Given the description of an element on the screen output the (x, y) to click on. 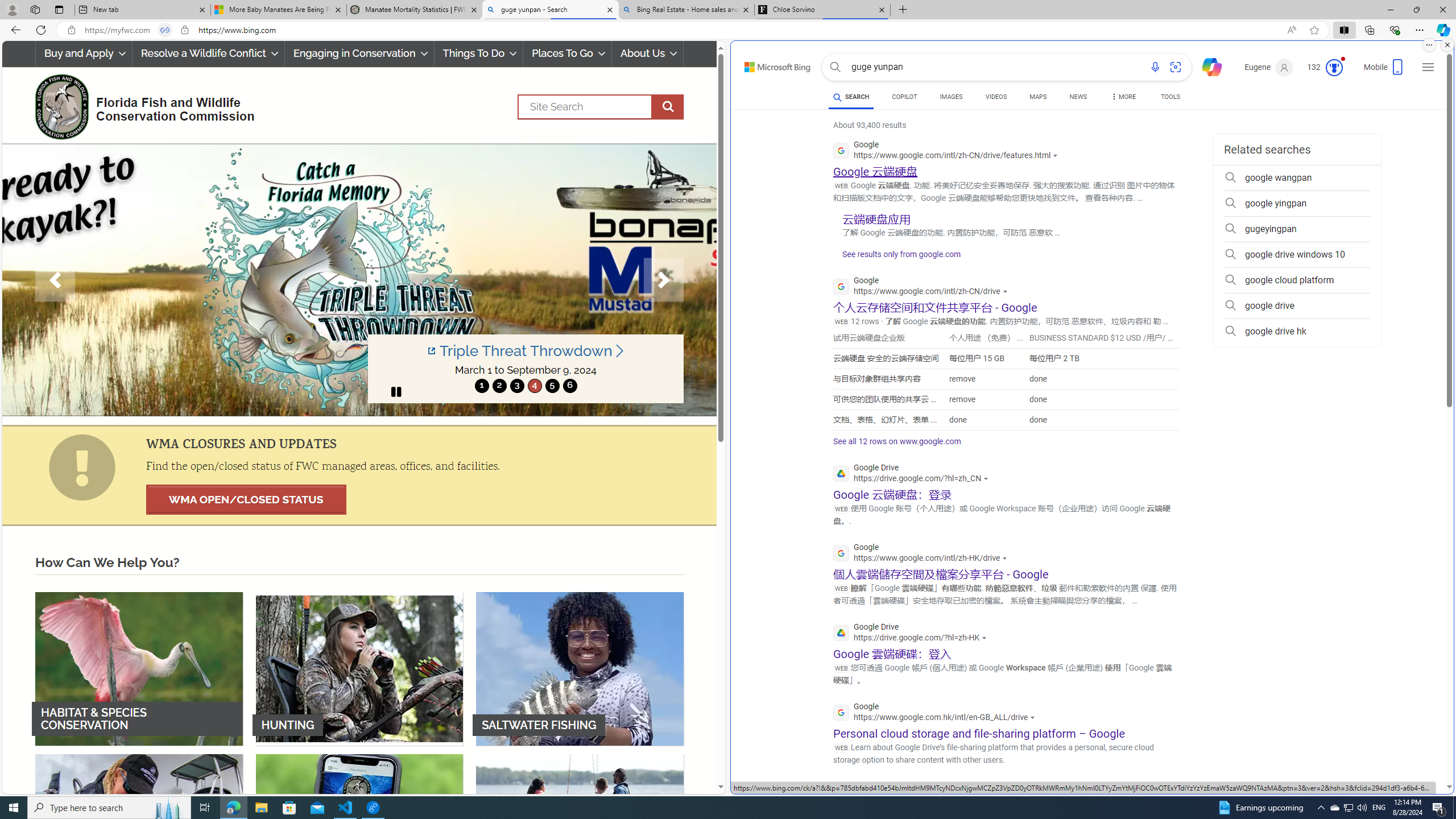
New Tab (903, 9)
Close split screen. (1447, 45)
Actions for this site (1061, 797)
NEWS (1078, 96)
SALTWATER FISHING (580, 668)
Search using an image (1174, 66)
Places To Go (566, 53)
Chloe Sorvino (822, 9)
move to slide 1 (481, 385)
move to slide 6 (569, 385)
Address and search bar (680, 29)
About Us (647, 53)
Engaging in Conservation (358, 53)
